Given the description of an element on the screen output the (x, y) to click on. 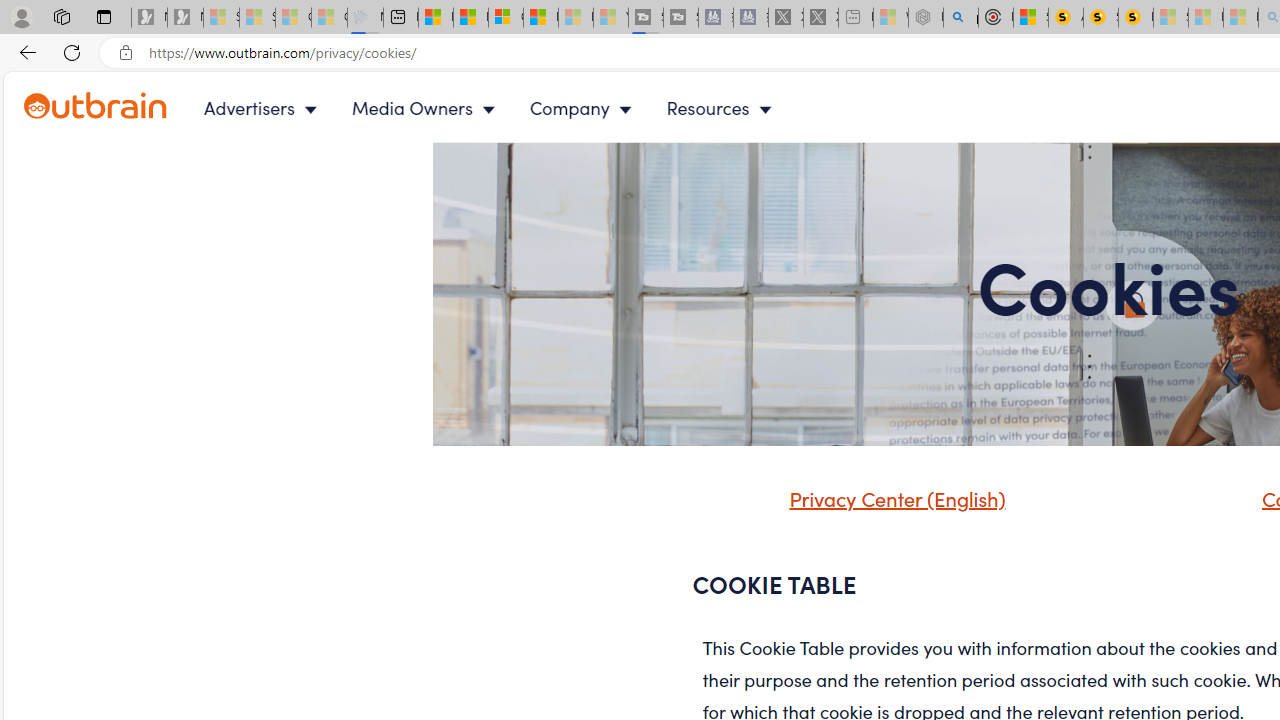
Newsletter Sign Up - Sleeping (185, 17)
poe - Search (960, 17)
Outbrain logo - link to homepage (96, 106)
Outbrain logo - link to homepage (118, 107)
Advertisers (264, 107)
Media Owners (427, 107)
